Given the description of an element on the screen output the (x, y) to click on. 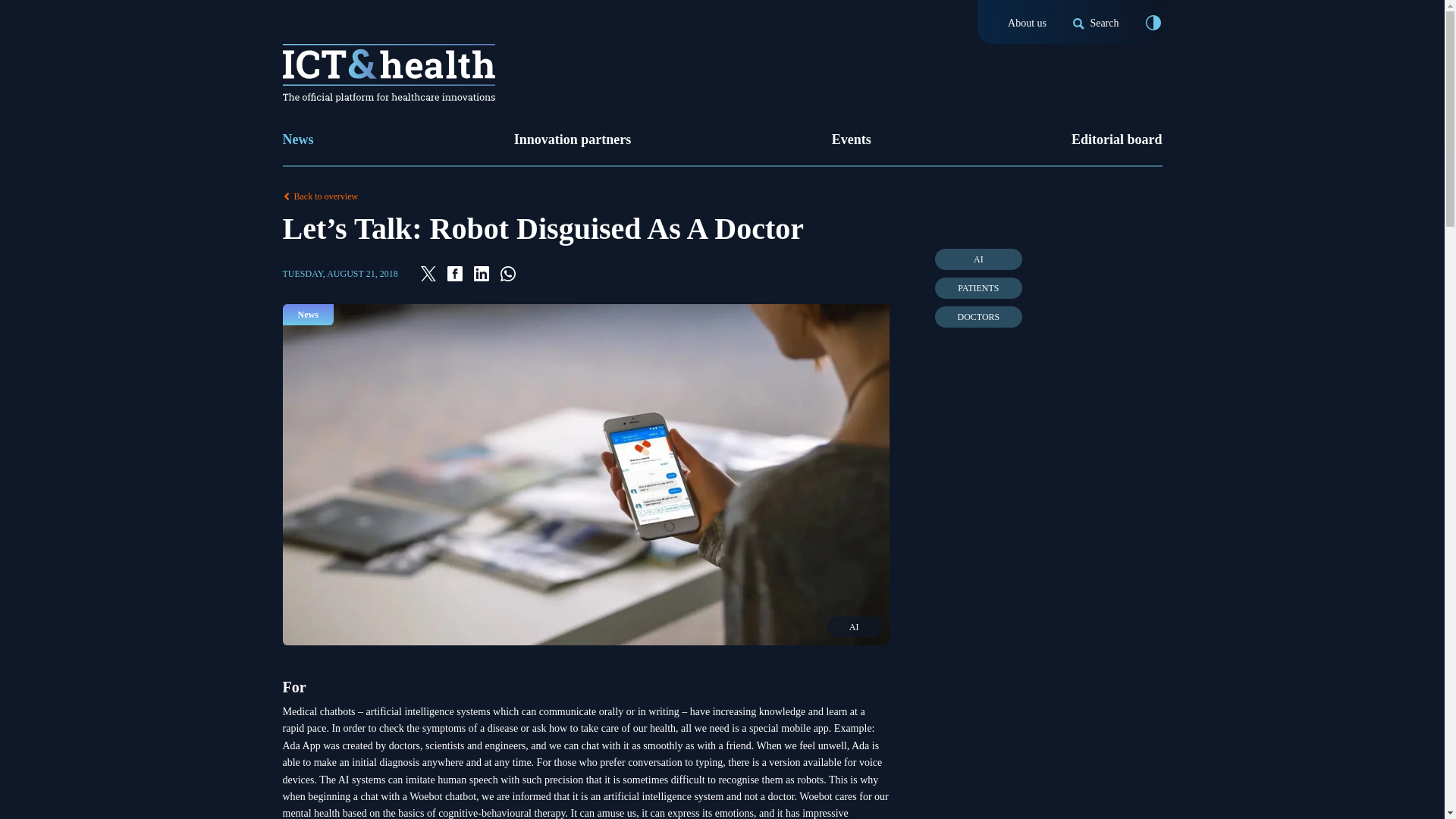
About us (1026, 22)
DOCTORS (978, 316)
Share on Facebook (454, 273)
Share on WhatsApp (507, 273)
Events (850, 139)
Back to overview (721, 196)
Go to Events (850, 139)
AI (978, 259)
Go to Editorial board (1116, 139)
Read all about AI (978, 259)
